Given the description of an element on the screen output the (x, y) to click on. 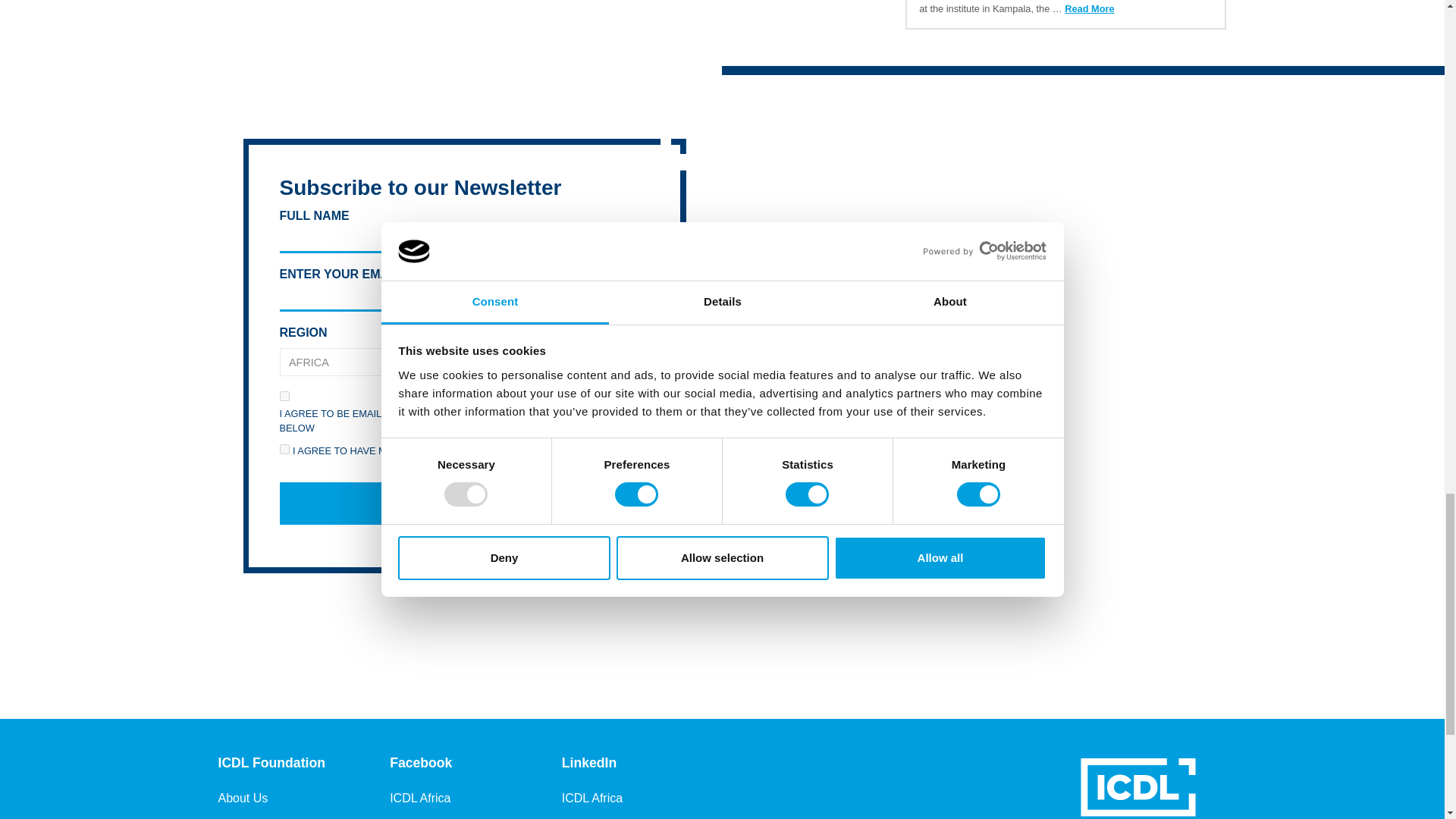
on (283, 449)
on (283, 396)
